Given the description of an element on the screen output the (x, y) to click on. 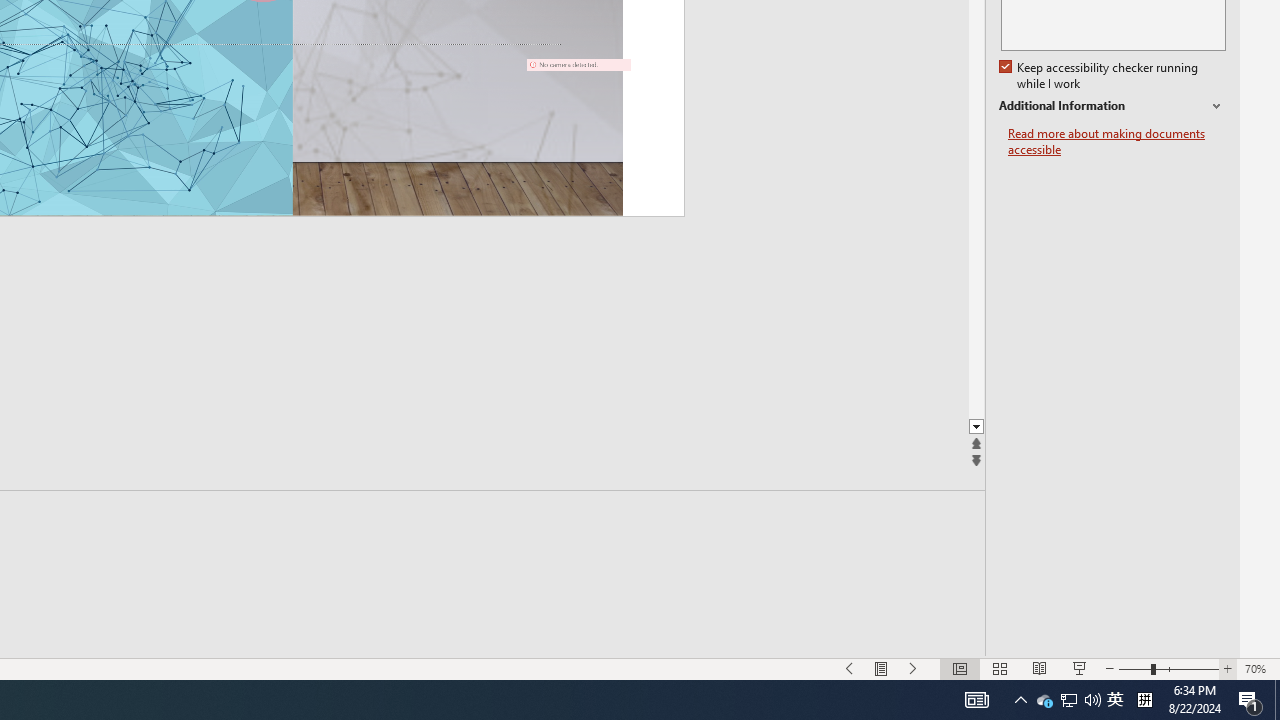
Zoom 70% (1258, 668)
TextBox 61 (516, 87)
Slide Show Previous On (850, 668)
Slide Show Next On (914, 668)
Menu On (882, 668)
